Given the description of an element on the screen output the (x, y) to click on. 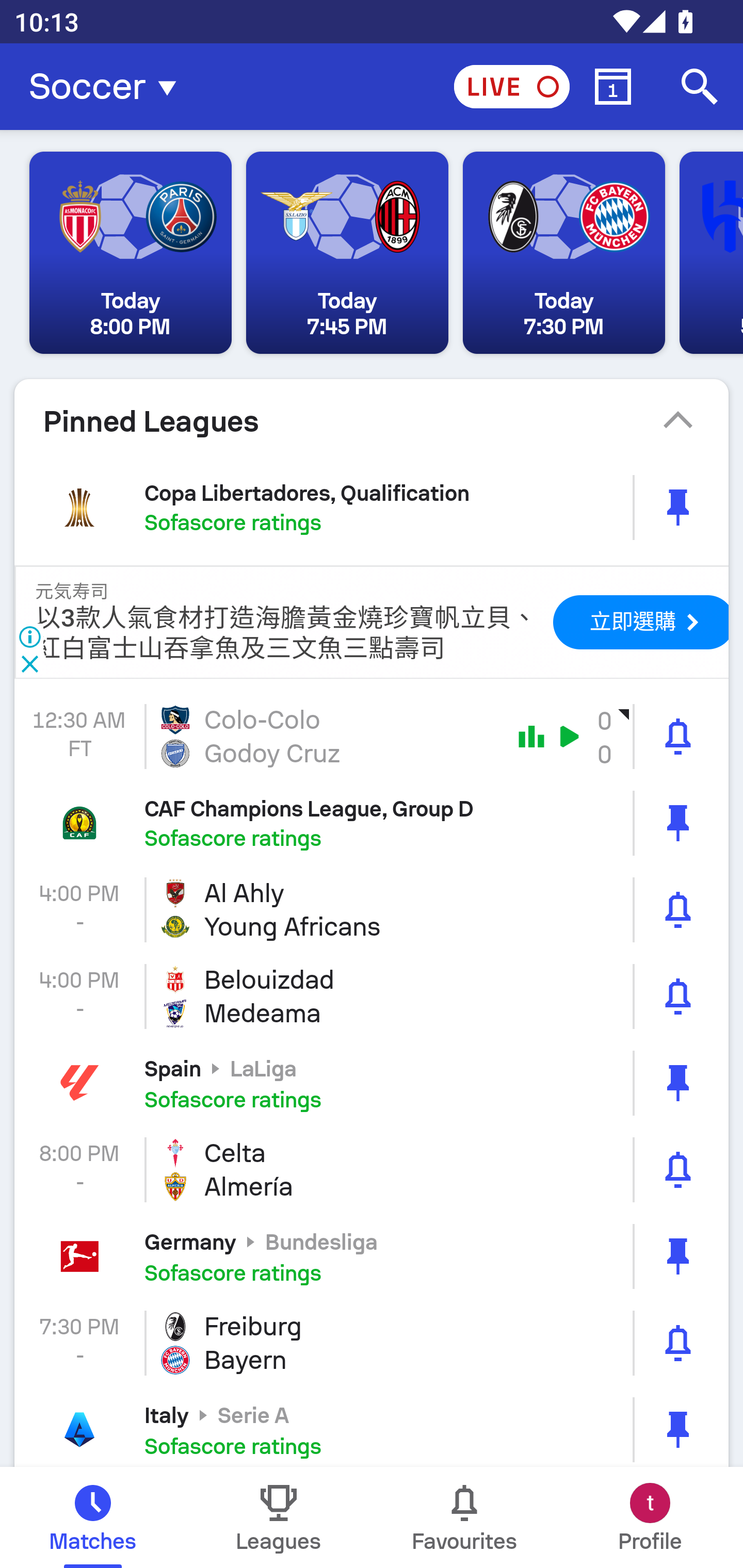
Soccer (108, 86)
Calendar (612, 86)
Search (699, 86)
Today
8:00 PM (130, 253)
Today
7:45 PM (346, 253)
Today
7:30 PM (563, 253)
Pinned Leagues (371, 421)
Copa Libertadores, Qualification Sofascore ratings (371, 507)
元気寿司 (71, 591)
立即選購 (643, 621)
12:30 AM FT Colo-Colo Godoy Cruz 0 0 (371, 736)
CAF Champions League, Group D Sofascore ratings (371, 823)
4:00 PM - Al Ahly Young Africans (371, 910)
4:00 PM - Belouizdad Medeama (371, 996)
Spain LaLiga Sofascore ratings (371, 1082)
8:00 PM - Celta Almería (371, 1169)
Germany Bundesliga Sofascore ratings (371, 1256)
7:30 PM - Freiburg Bayern (371, 1342)
Italy Serie A Sofascore ratings (371, 1426)
Leagues (278, 1517)
Favourites (464, 1517)
Profile (650, 1517)
